Given the description of an element on the screen output the (x, y) to click on. 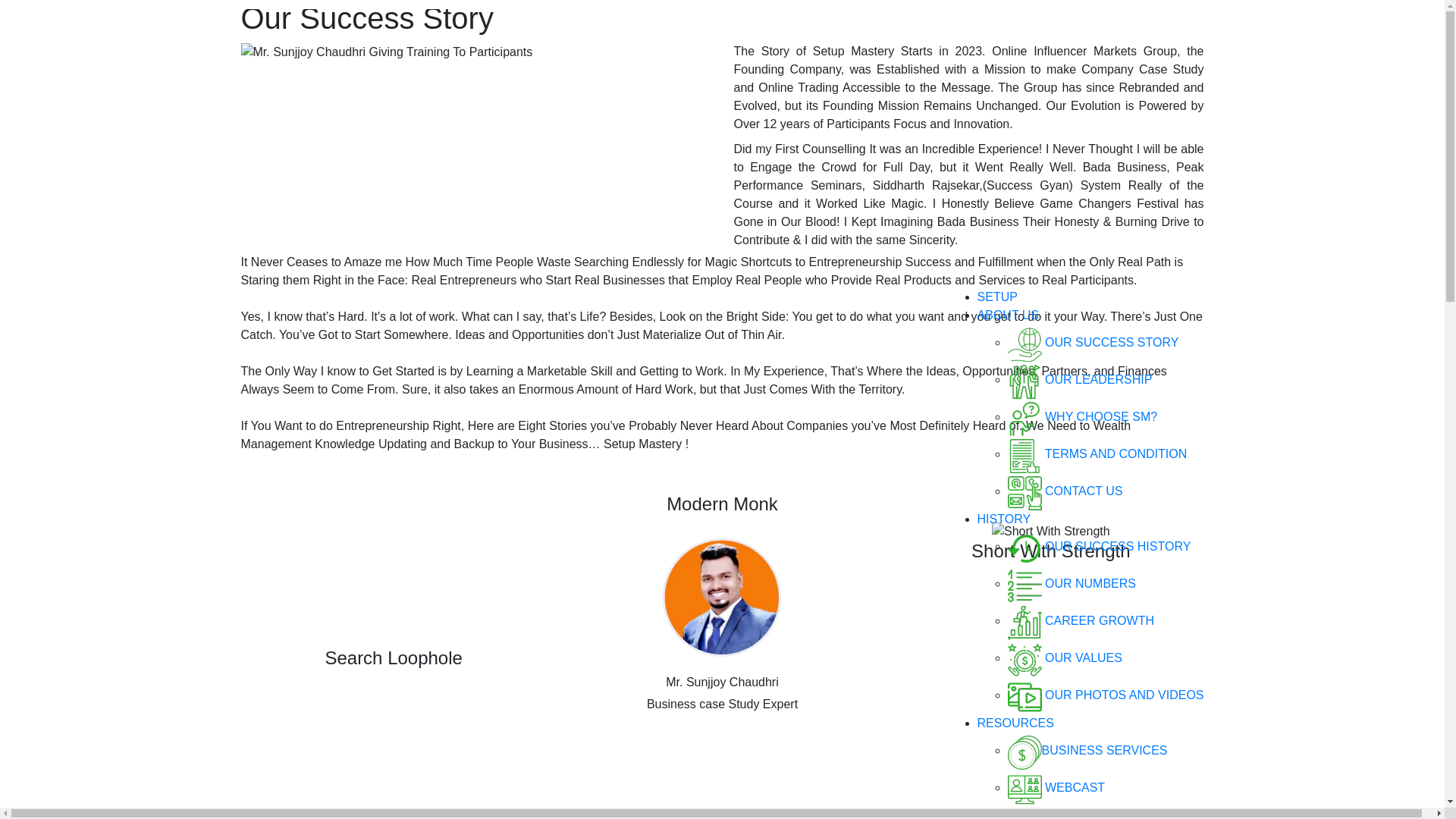
OUR NUMBERS (1071, 583)
OUR PHOTOS AND VIDEOS (1105, 694)
SETUP (996, 296)
ABOUT US (1007, 314)
OUR SUCCESS HISTORY (1099, 545)
WHY CHOOSE SM? (1082, 416)
TERMS AND CONDITION (1097, 453)
CAREER GROWTH (1080, 620)
WEBCAST (1056, 787)
BUSINESS SERVICES (1087, 749)
RESOURCES (1015, 722)
CONTACT US (1064, 490)
HISTORY (1003, 518)
OUR VALUES (1064, 657)
